Given the description of an element on the screen output the (x, y) to click on. 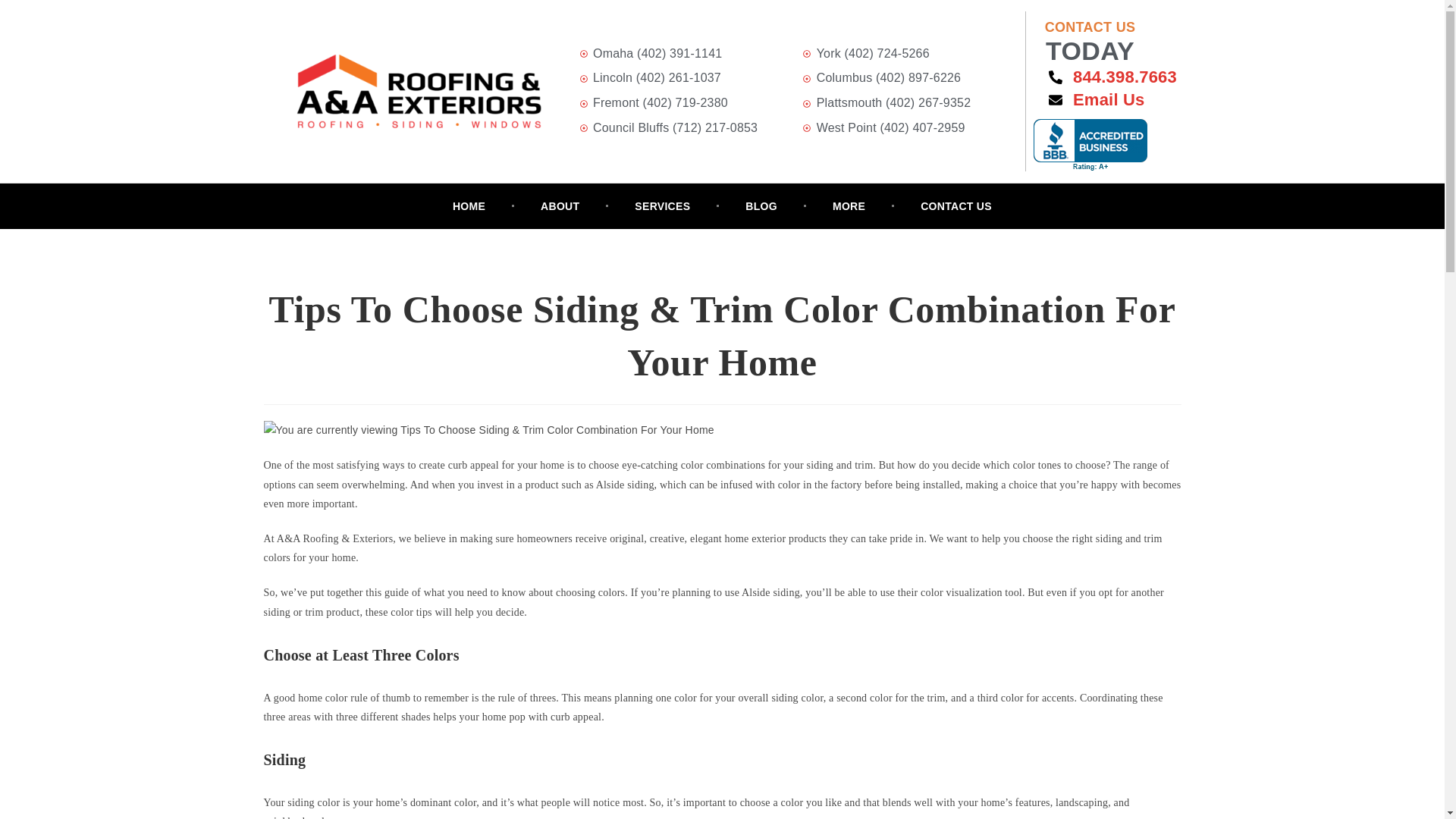
Email Us (1090, 36)
SERVICES (1101, 99)
MORE (662, 206)
HOME (848, 206)
844.398.7663 (468, 206)
ABOUT (1101, 77)
BLOG (560, 206)
CONTACT US (760, 206)
